Given the description of an element on the screen output the (x, y) to click on. 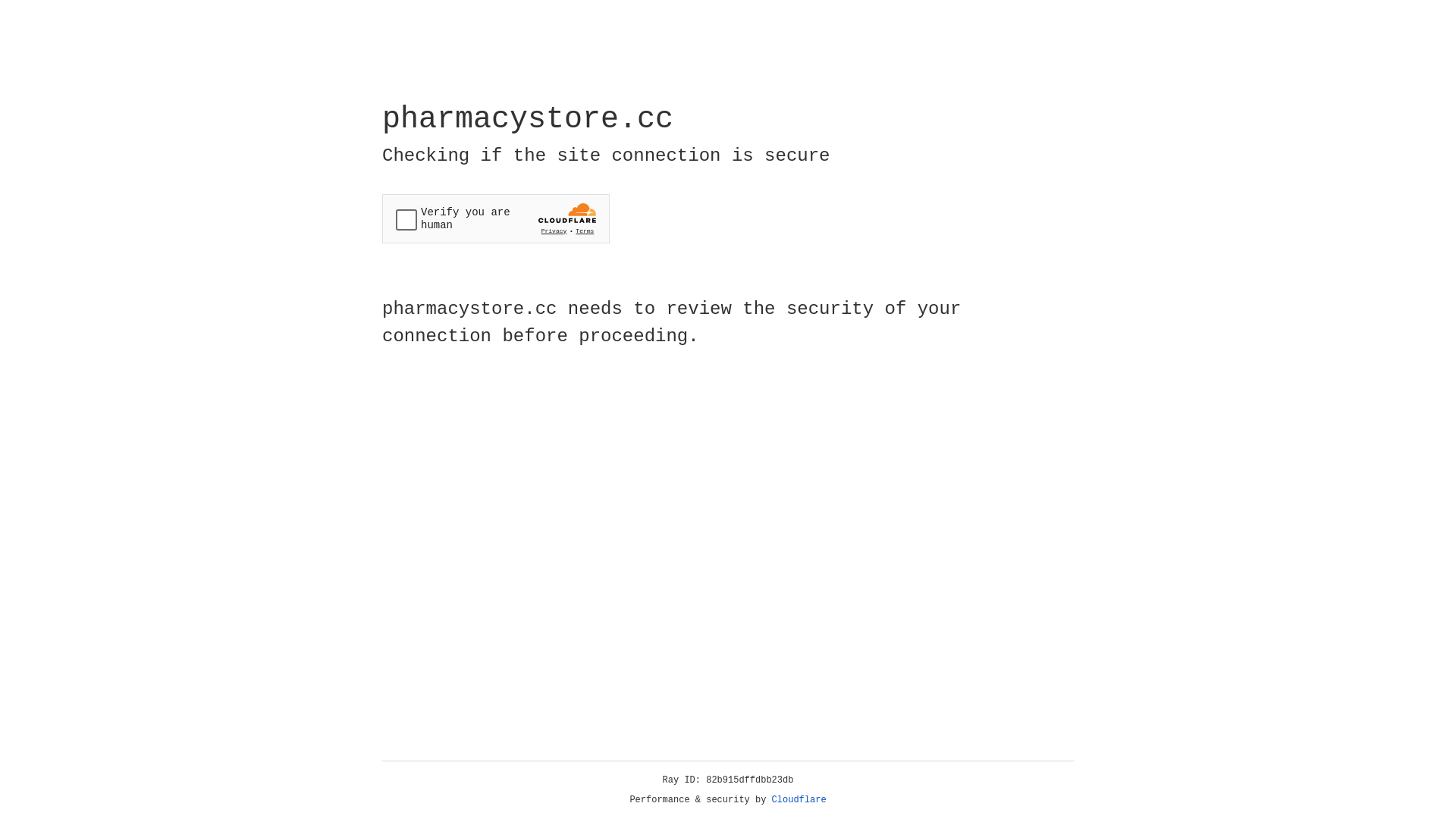
Cloudflare Element type: text (798, 799)
Widget containing a Cloudflare security challenge Element type: hover (495, 218)
